Given the description of an element on the screen output the (x, y) to click on. 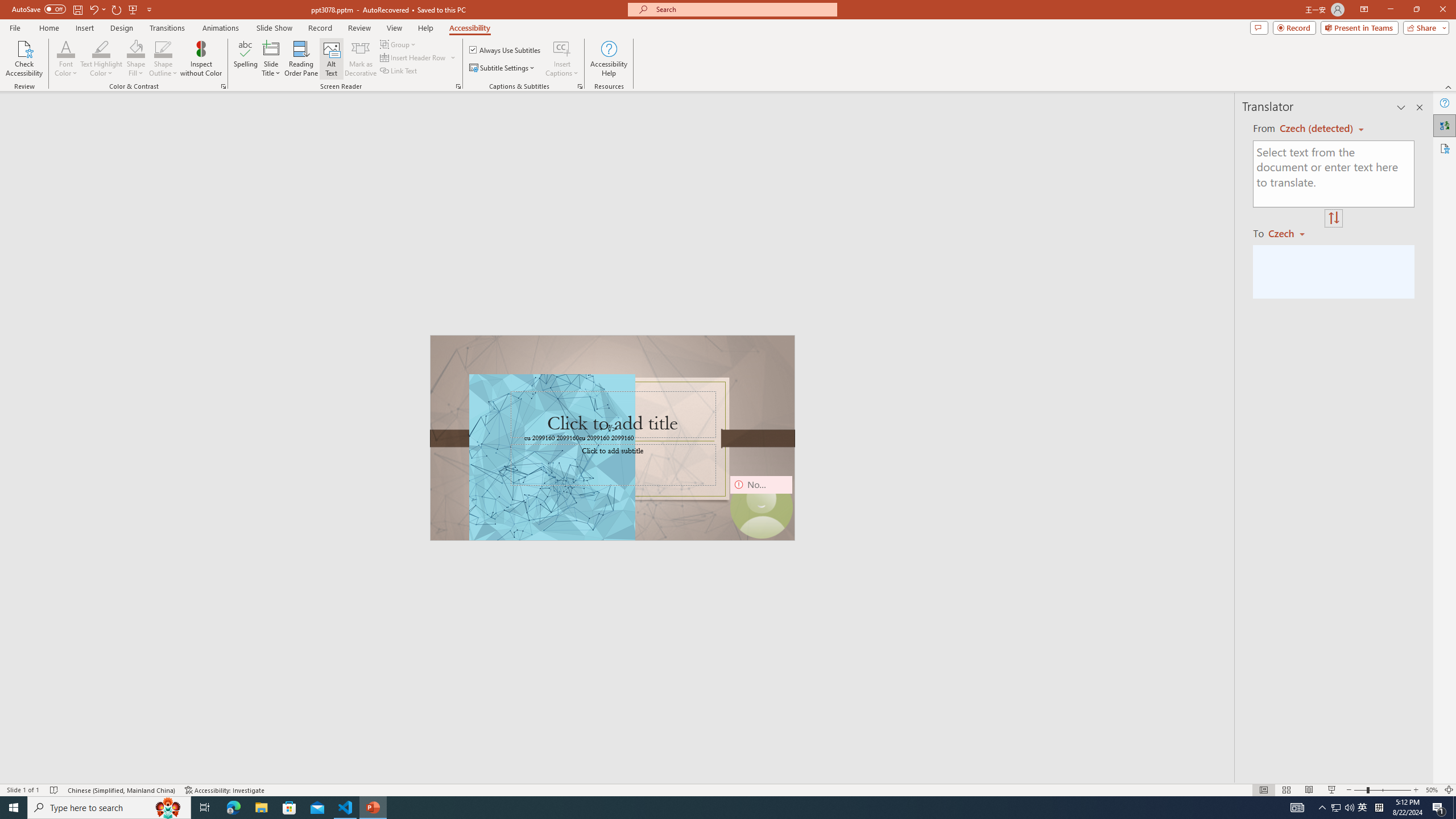
Reading Order Pane (301, 58)
An abstract genetic concept (612, 437)
